Given the description of an element on the screen output the (x, y) to click on. 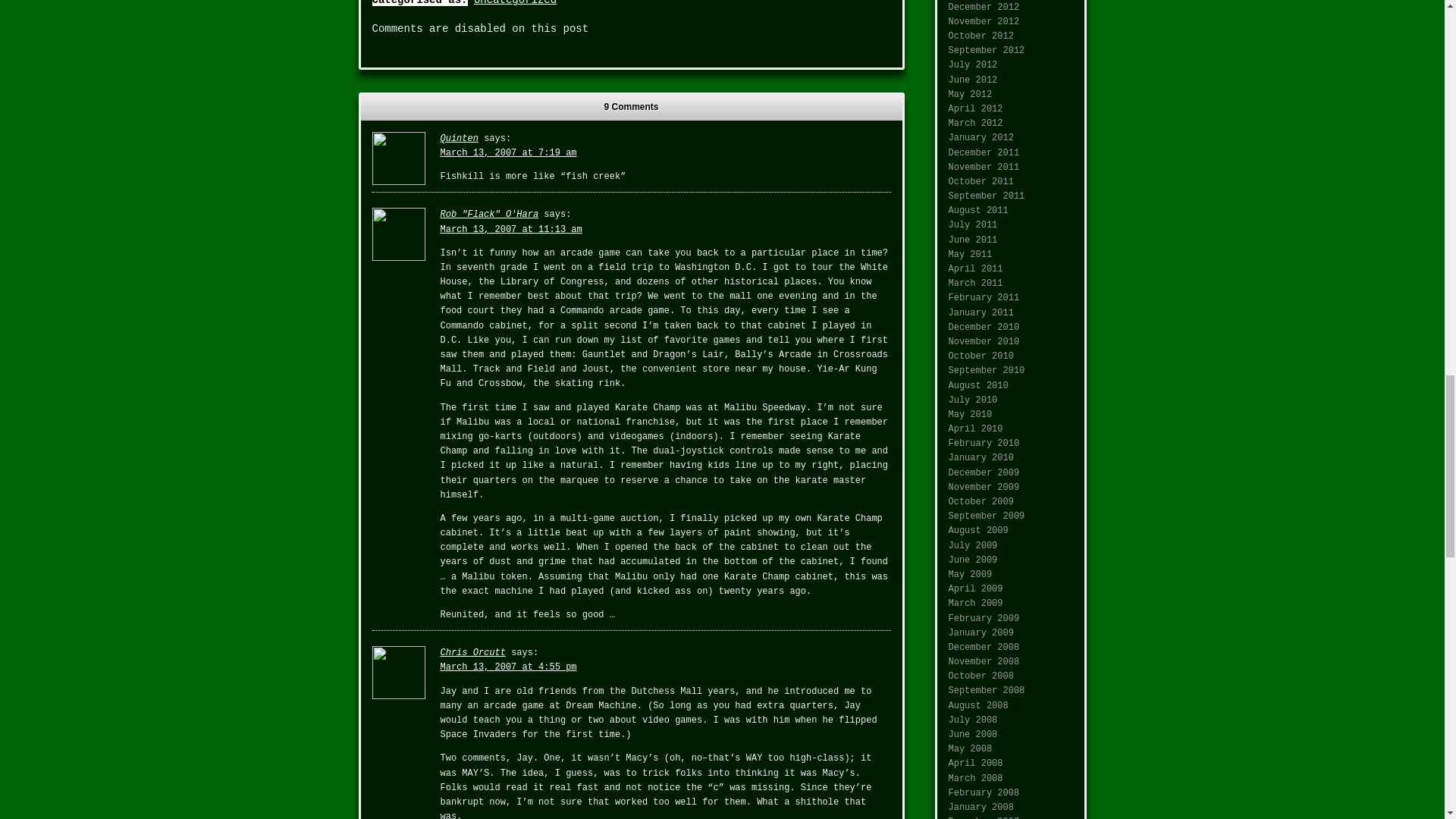
Uncategorized (515, 2)
Rob "Flack" O'Hara (488, 214)
Chris Orcutt (472, 652)
March 13, 2007 at 7:19 am (507, 153)
Quinten (458, 138)
March 13, 2007 at 11:13 am (509, 229)
March 13, 2007 at 4:55 pm (507, 666)
